Given the description of an element on the screen output the (x, y) to click on. 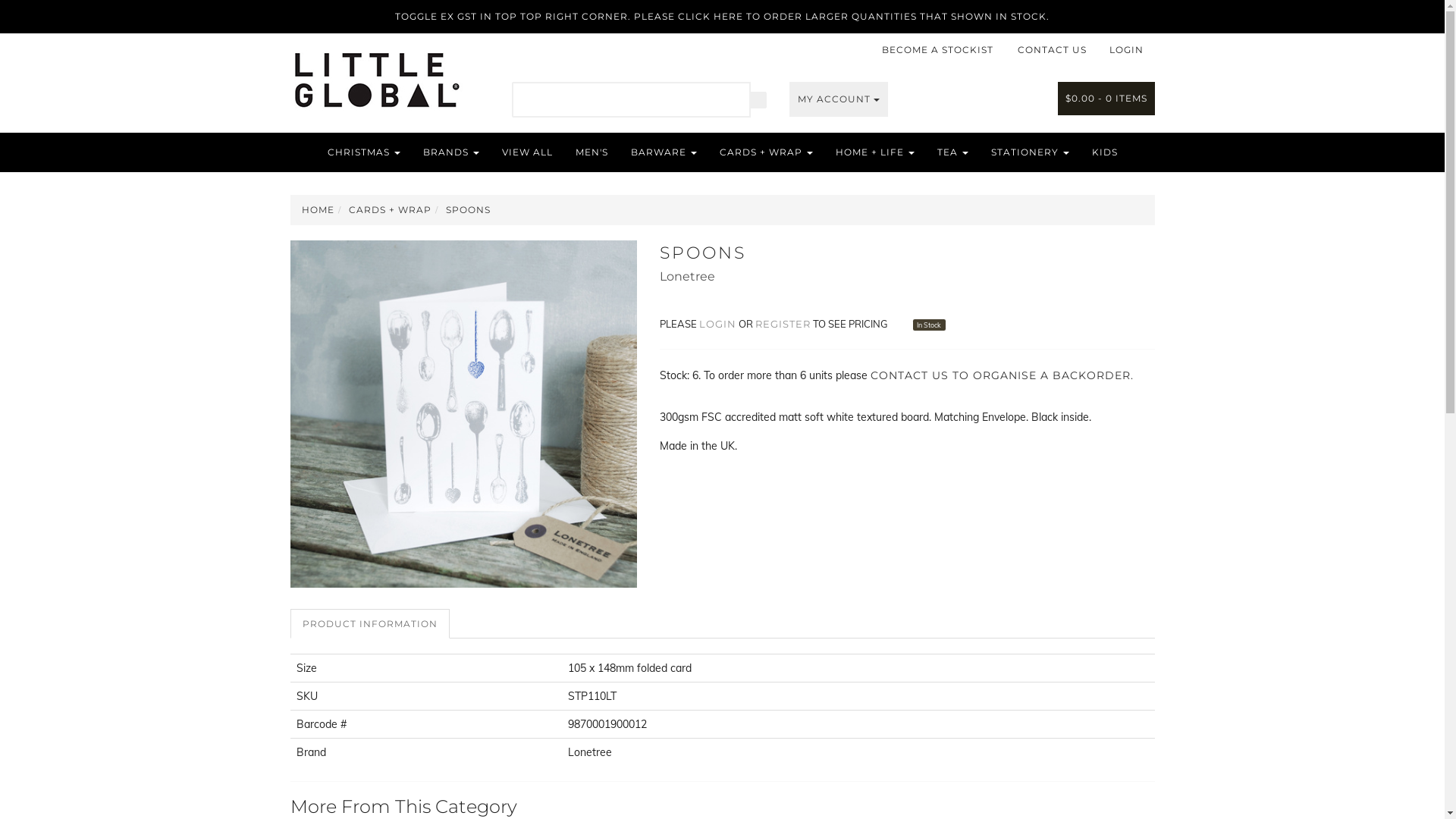
PRODUCT INFORMATION Element type: text (368, 622)
CONTACT US Element type: text (1051, 49)
LITTLE GLOBAL Element type: hover (375, 74)
LOGIN Element type: text (1126, 49)
BECOME A STOCKIST Element type: text (937, 49)
HOME + LIFE Element type: text (874, 152)
CHRISTMAS Element type: text (363, 152)
VIEW ALL Element type: text (526, 152)
MY ACCOUNT Element type: text (838, 98)
BRANDS Element type: text (450, 152)
MEN'S Element type: text (591, 152)
Search Element type: text (757, 99)
CARDS + WRAP Element type: text (766, 152)
STATIONERY Element type: text (1029, 152)
LOGIN Element type: text (717, 323)
$0.00 - 0 ITEMS Element type: text (1105, 98)
TEA Element type: text (952, 152)
HOME Element type: text (317, 209)
CONTACT US TO ORGANISE A BACKORDER. Element type: text (1001, 375)
CARDS + WRAP Element type: text (389, 209)
KIDS Element type: text (1103, 152)
BARWARE Element type: text (662, 152)
REGISTER Element type: text (782, 323)
SPOONS Element type: text (467, 209)
